Given the description of an element on the screen output the (x, y) to click on. 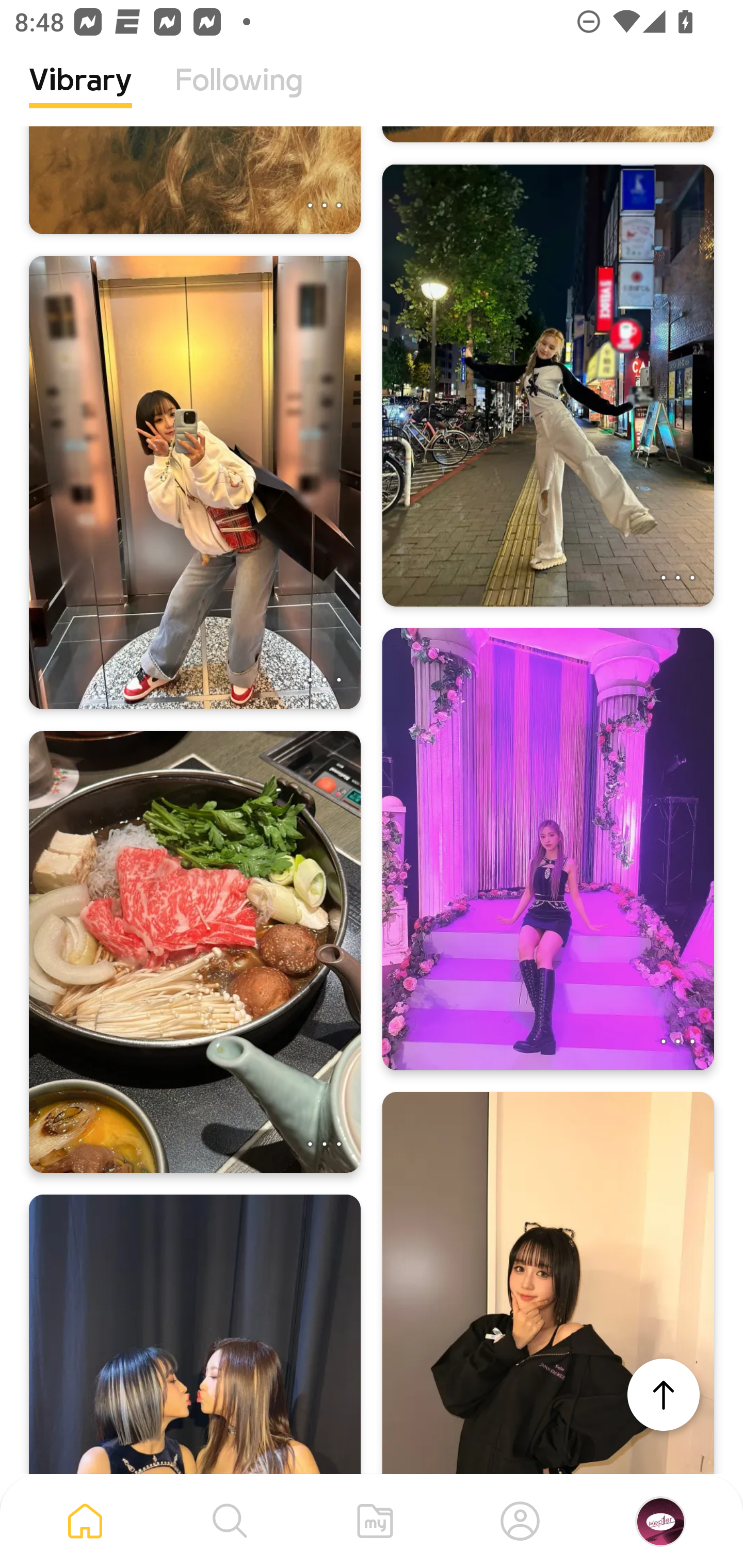
Vibrary (80, 95)
Following (239, 95)
